Given the description of an element on the screen output the (x, y) to click on. 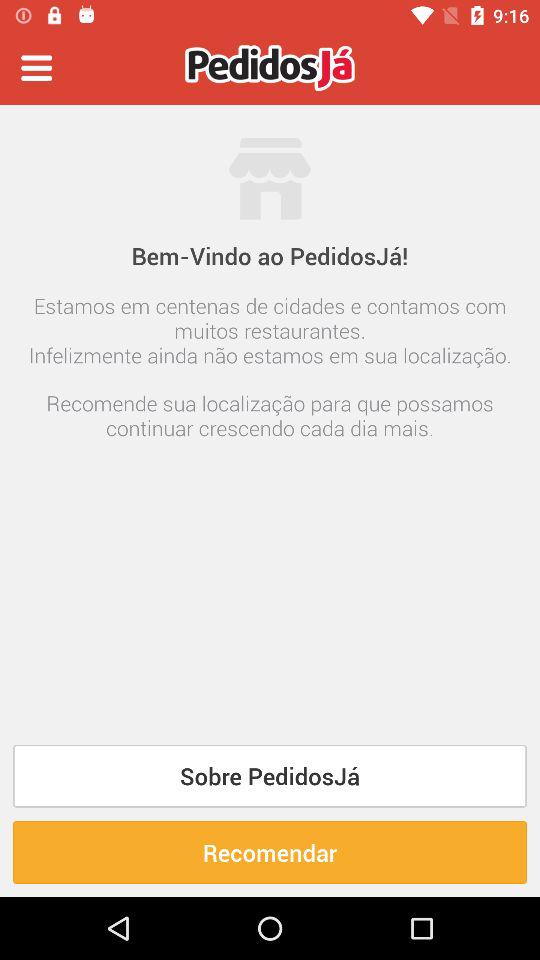
switch menu option (36, 68)
